Given the description of an element on the screen output the (x, y) to click on. 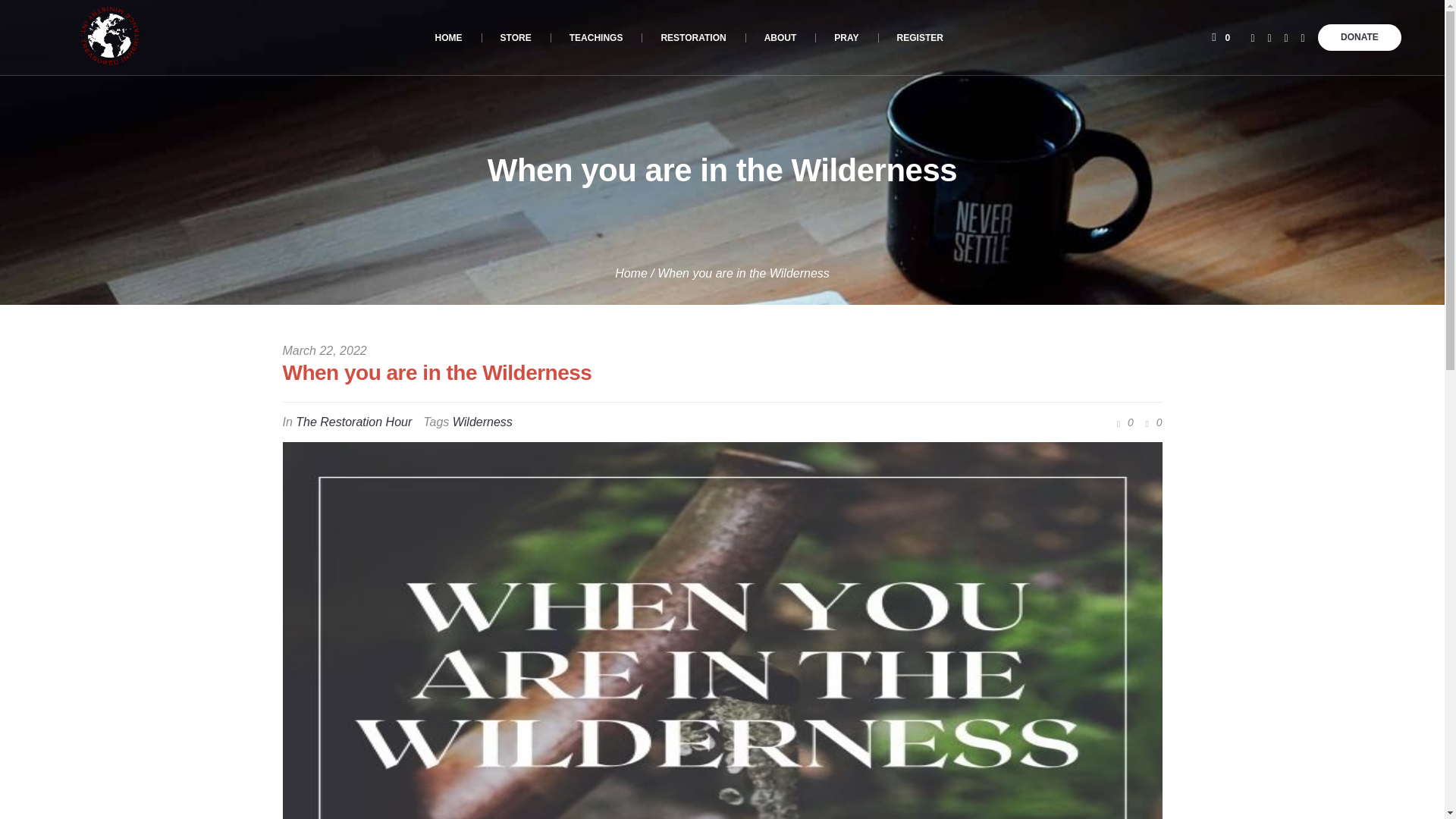
0 (1123, 422)
The Restoration Hour (353, 421)
0 (1151, 422)
REGISTER (919, 37)
Home (630, 273)
Comment on When you are in the Wilderness (1123, 422)
TEACHINGS (596, 37)
STORE (515, 37)
Twitter (1252, 38)
RESTORATION (693, 37)
Wilderness (482, 421)
YouTube (1269, 38)
Apple Podcast (1302, 38)
ABOUT (780, 37)
